Given the description of an element on the screen output the (x, y) to click on. 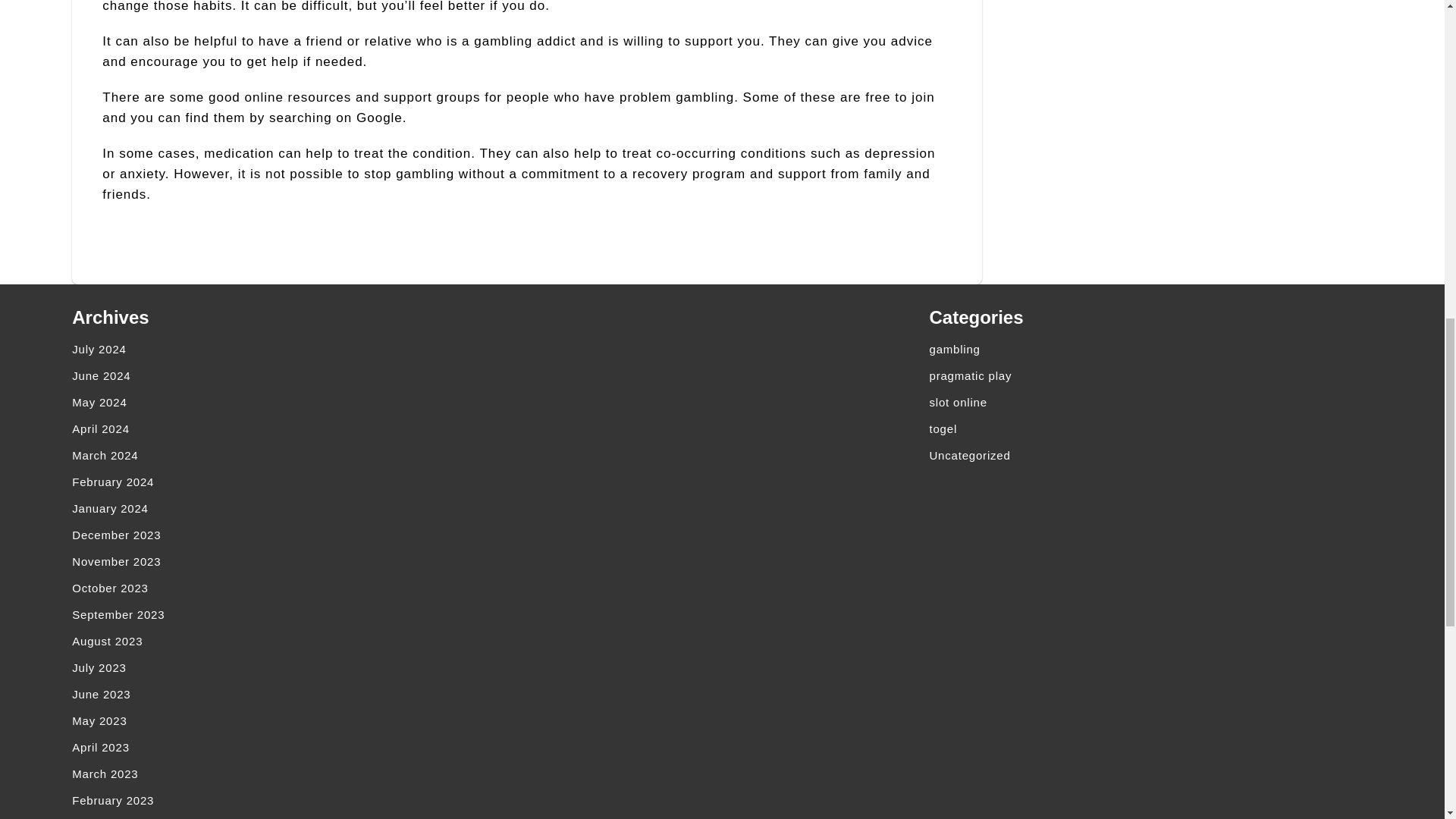
February 2023 (285, 800)
September 2023 (285, 614)
December 2023 (285, 534)
November 2023 (285, 560)
May 2023 (285, 720)
July 2023 (285, 667)
January 2023 (285, 816)
January 2024 (285, 508)
March 2024 (285, 455)
April 2023 (285, 746)
July 2024 (285, 348)
October 2023 (285, 587)
May 2024 (285, 402)
February 2024 (285, 481)
August 2023 (285, 641)
